Given the description of an element on the screen output the (x, y) to click on. 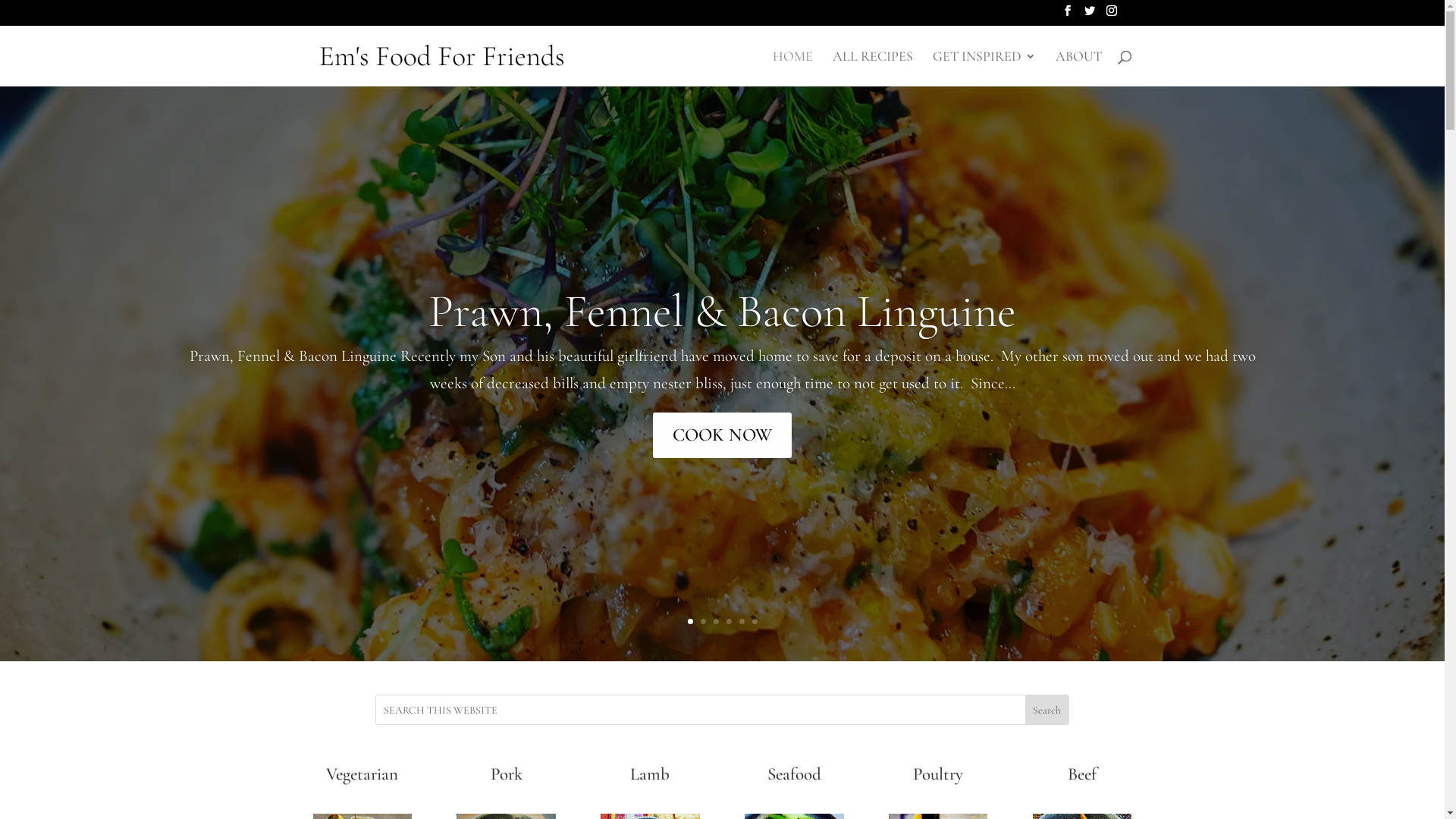
4 Element type: text (728, 621)
GET INSPIRED Element type: text (983, 67)
Prawn, Fennel & Bacon Linguine Element type: text (722, 311)
1 Element type: text (689, 621)
ALL RECIPES Element type: text (872, 67)
2 Element type: text (703, 621)
5 Element type: text (740, 621)
3 Element type: text (715, 621)
Search Element type: text (1046, 709)
COOK NOW Element type: text (721, 434)
6 Element type: text (754, 621)
HOME Element type: text (791, 67)
ABOUT Element type: text (1078, 67)
